Given the description of an element on the screen output the (x, y) to click on. 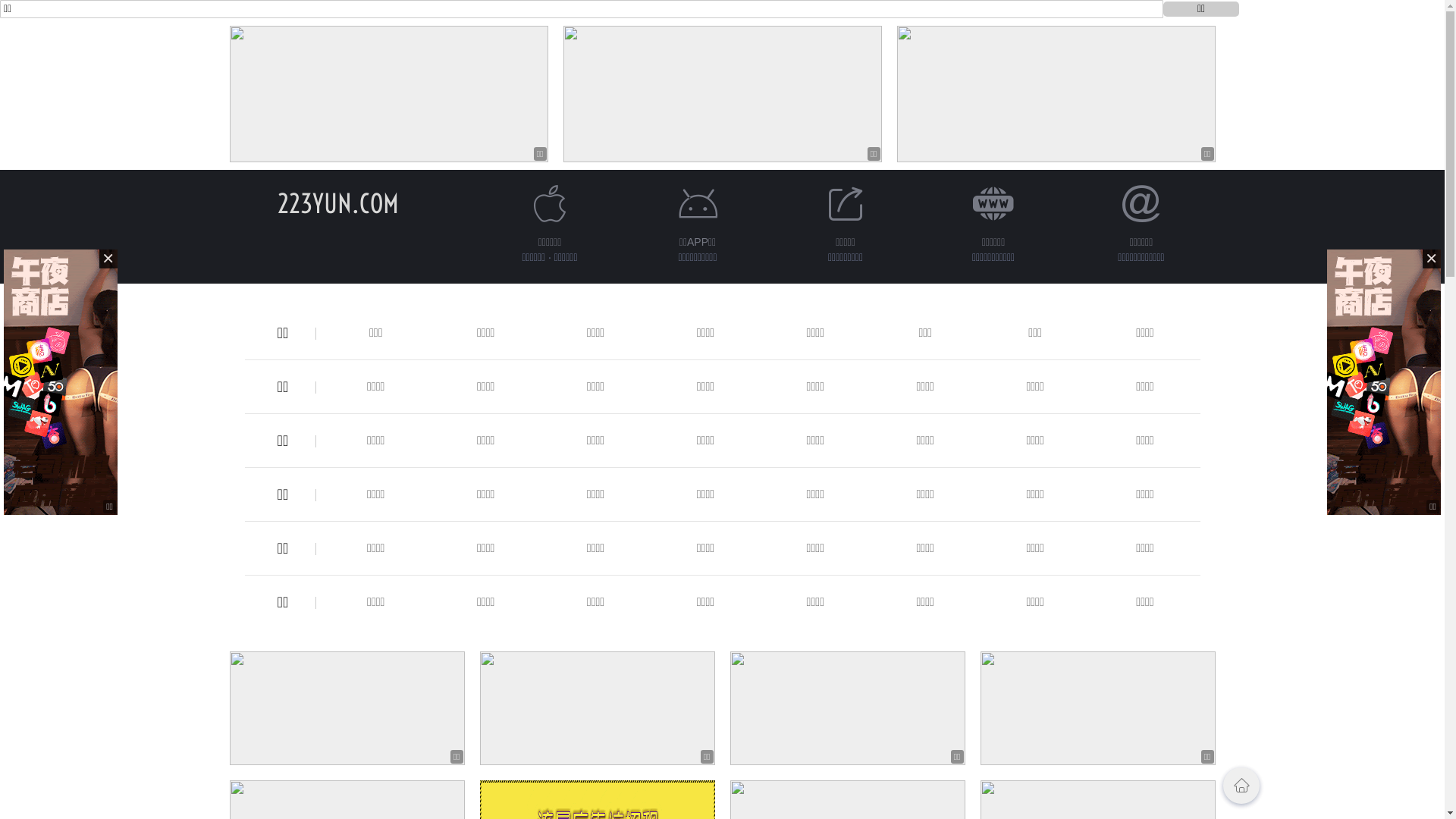
223YUN.COM Element type: text (337, 203)
